Given the description of an element on the screen output the (x, y) to click on. 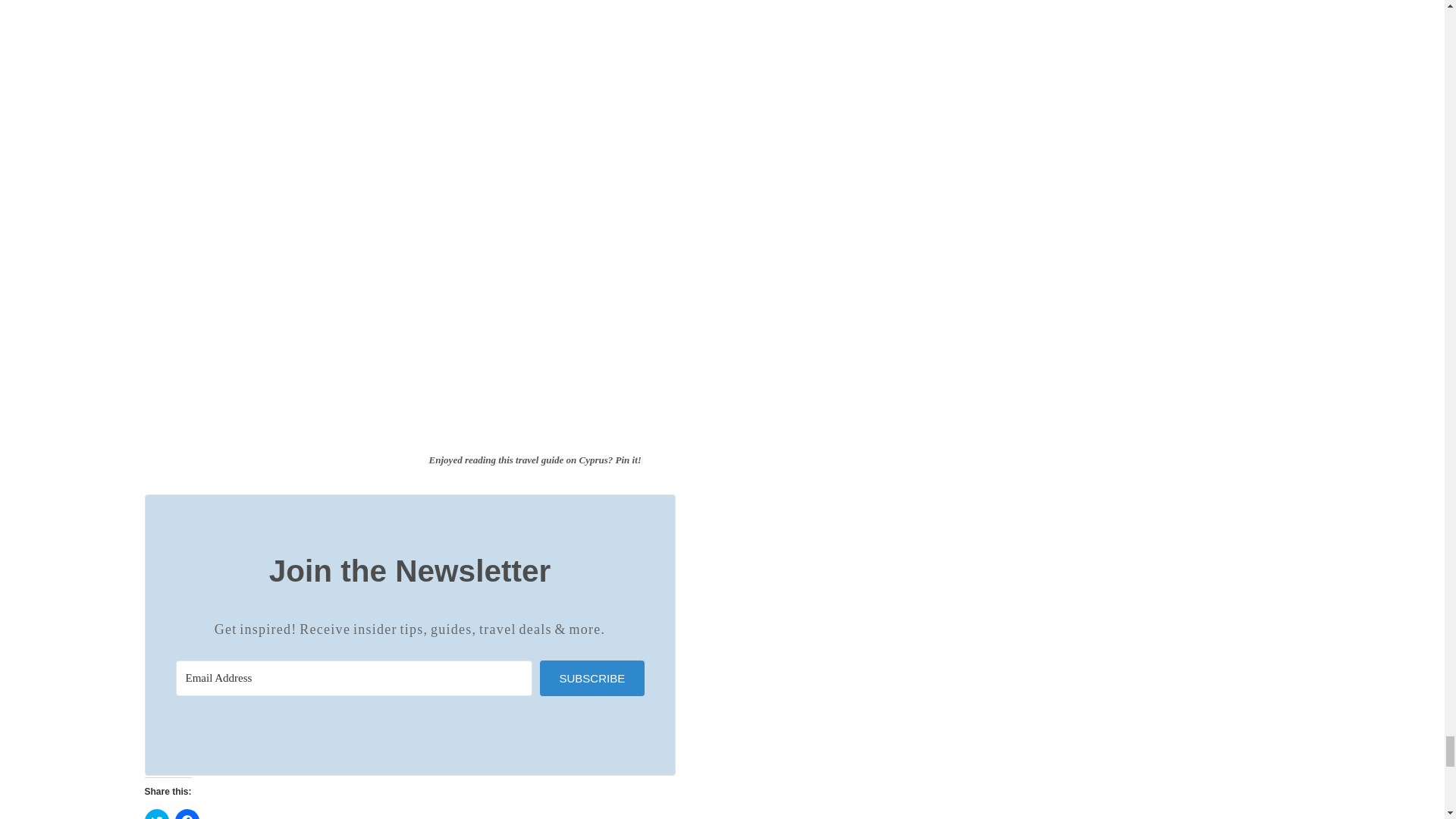
Click to share on Facebook (186, 814)
Click to share on Twitter (156, 814)
